Given the description of an element on the screen output the (x, y) to click on. 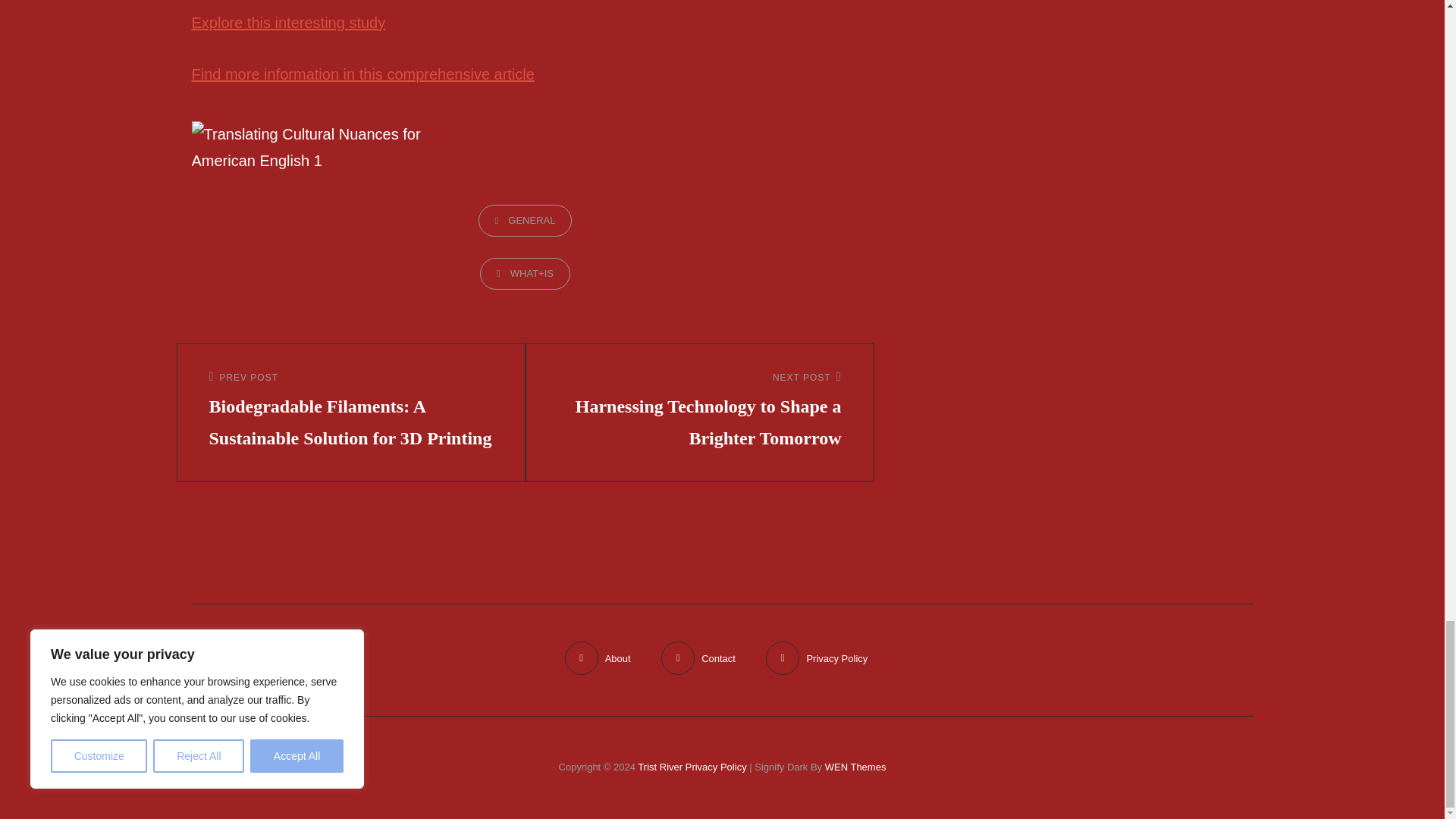
Explore this interesting study (287, 22)
GENERAL (525, 219)
Find more information in this comprehensive article (362, 74)
